Given the description of an element on the screen output the (x, y) to click on. 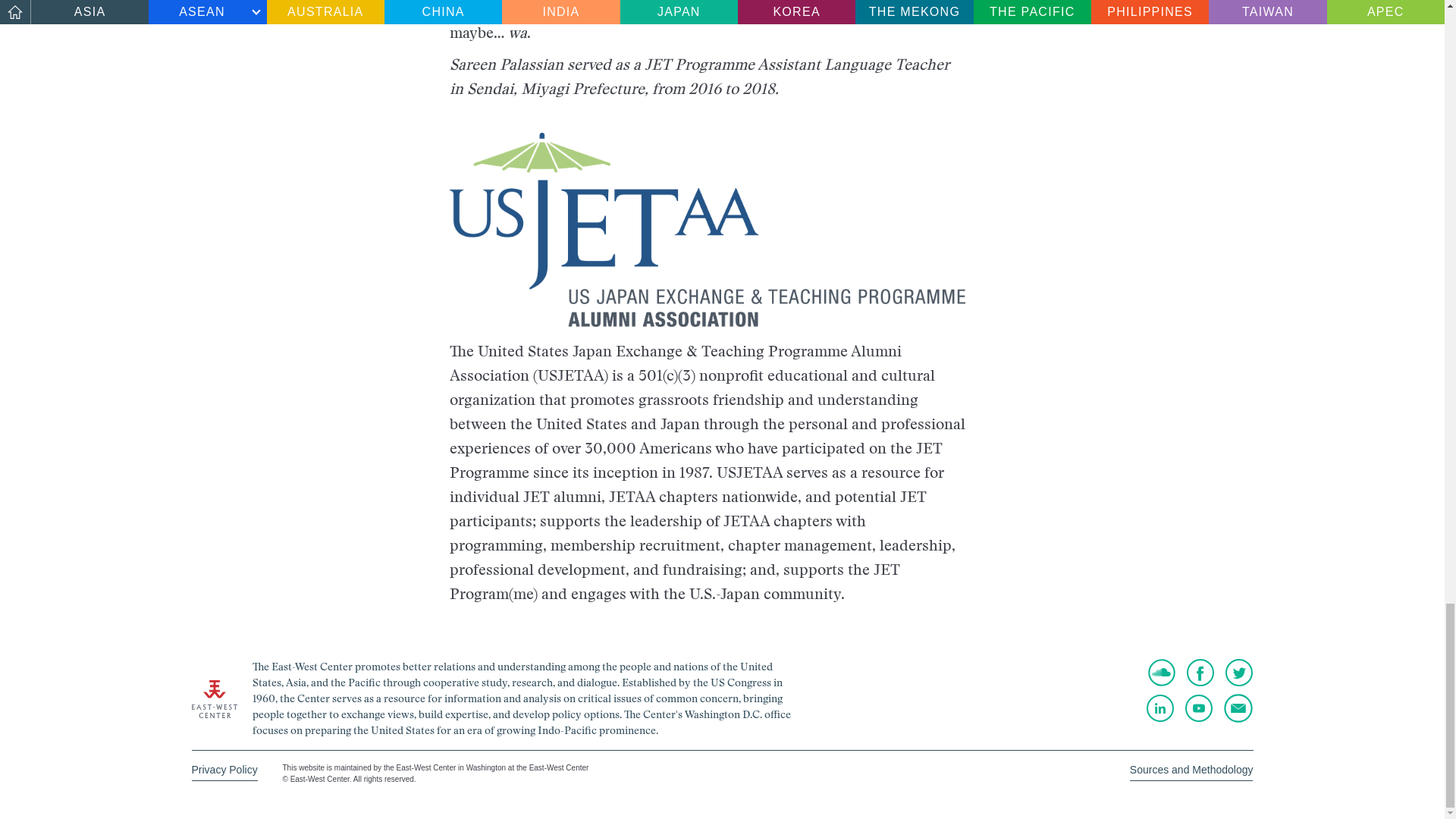
Email Created with Sketch. (1238, 707)
Facebook Created with Sketch. (1200, 672)
Youtube Created with Sketch. (1198, 707)
Twitter Created with Sketch. (1238, 672)
LinkedIn Created with Sketch. (1160, 707)
